Given the description of an element on the screen output the (x, y) to click on. 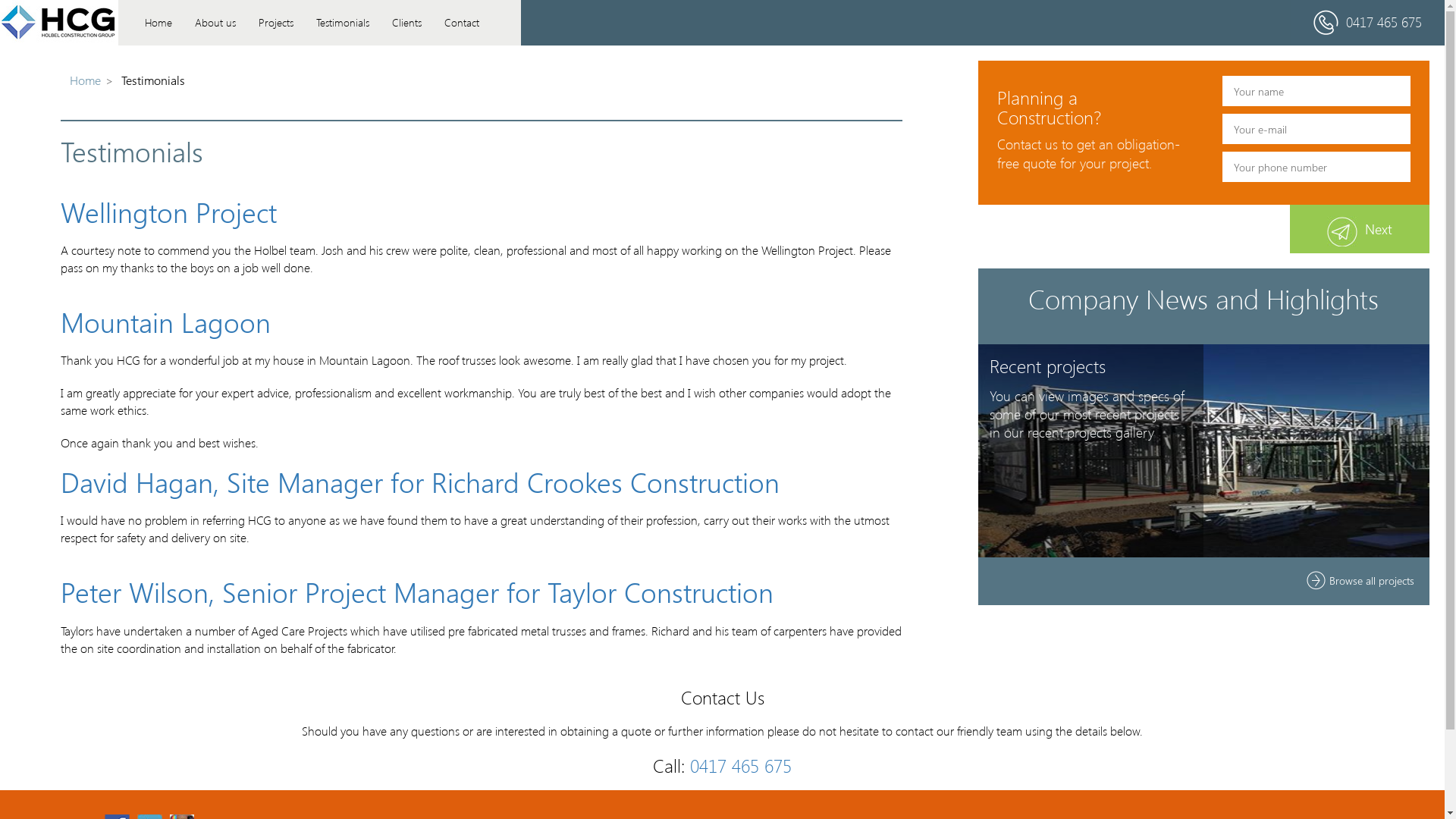
Clients Element type: text (406, 22)
Testimonials Element type: text (342, 22)
About us Element type: text (214, 22)
Contact Element type: text (461, 22)
Mountain Lagoon Element type: text (165, 321)
Home Element type: text (85, 80)
Browse all projects Element type: text (1360, 580)
0417 465 675 Element type: text (1383, 21)
Peter Wilson, Senior Project Manager for Taylor Construction Element type: text (416, 591)
Wellington Project Element type: text (168, 211)
Next Element type: text (1359, 228)
Projects Element type: text (275, 22)
0417 465 675 Element type: text (740, 765)
Home Element type: text (158, 22)
Recent projects Element type: text (1047, 365)
David Hagan, Site Manager for Richard Crookes Construction Element type: text (419, 481)
